Given the description of an element on the screen output the (x, y) to click on. 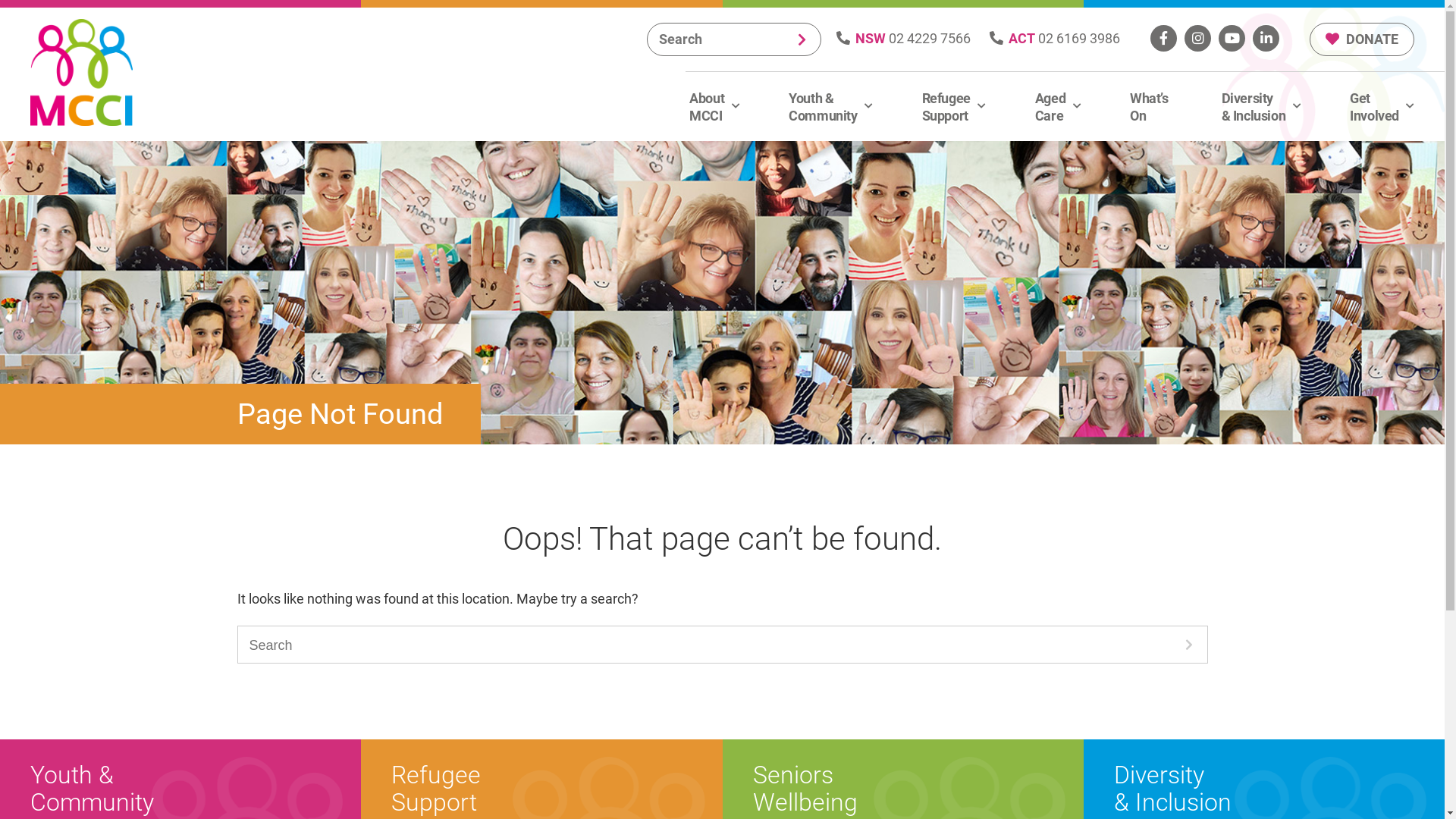
About
MCCI Element type: text (712, 106)
Diversity
& Inclusion Element type: text (1259, 106)
Refugee
Support Element type: text (951, 106)
NSW 02 4229 7566 Element type: text (903, 38)
Youth &
Community Element type: text (828, 106)
Get
Involved Element type: text (1380, 106)
DONATE Element type: text (1361, 39)
ACT 02 6169 3986 Element type: text (1054, 38)
Aged
Care Element type: text (1055, 106)
